Given the description of an element on the screen output the (x, y) to click on. 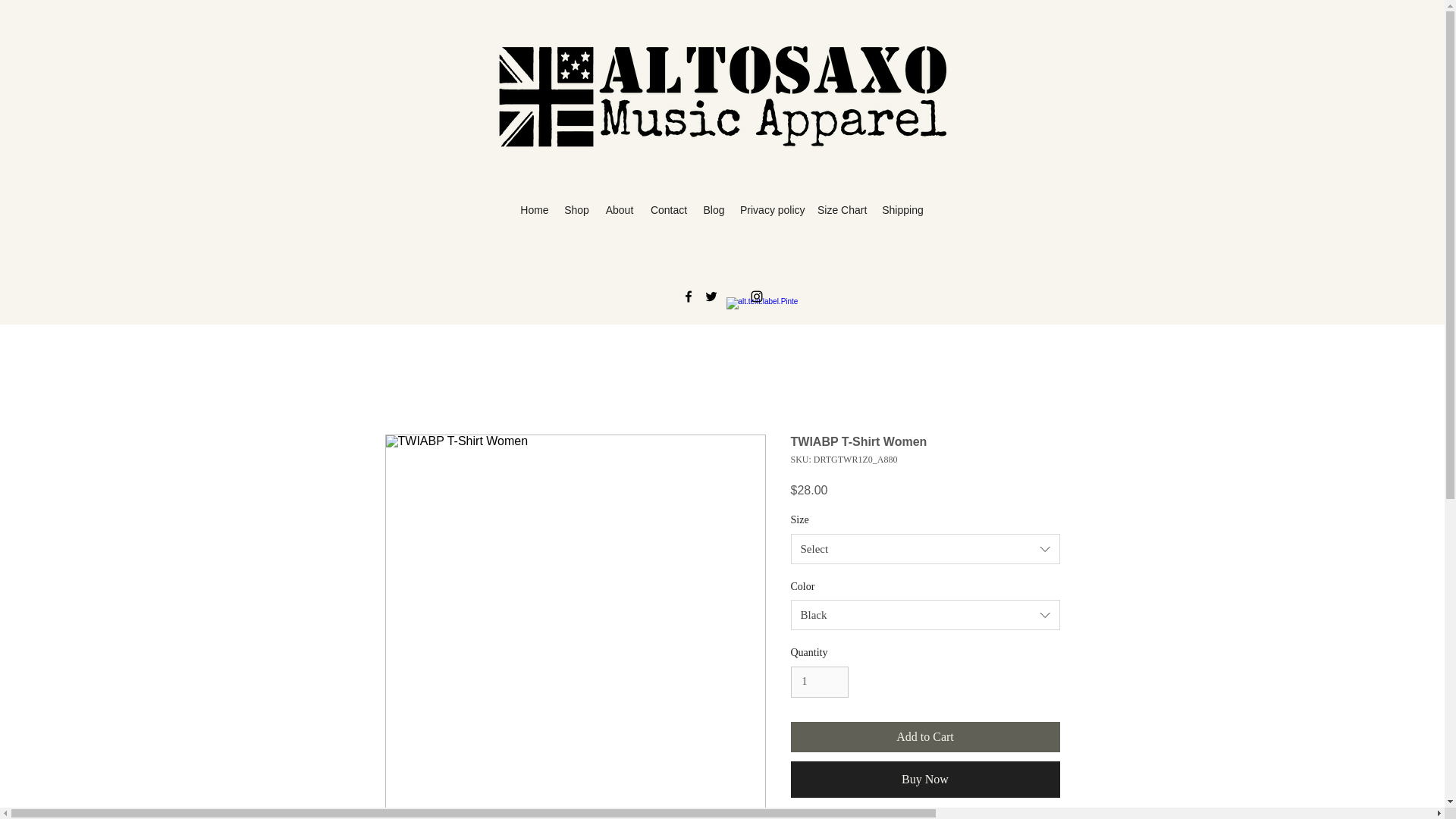
Select (924, 548)
About (619, 210)
Black (924, 614)
Shipping (902, 210)
Privacy policy (770, 210)
Size Chart (841, 210)
Home (534, 210)
Contact (668, 210)
altosaxo LOGO PNG 1900.png (722, 96)
Buy Now (924, 779)
1 (818, 681)
Add to Cart (924, 736)
